Given the description of an element on the screen output the (x, y) to click on. 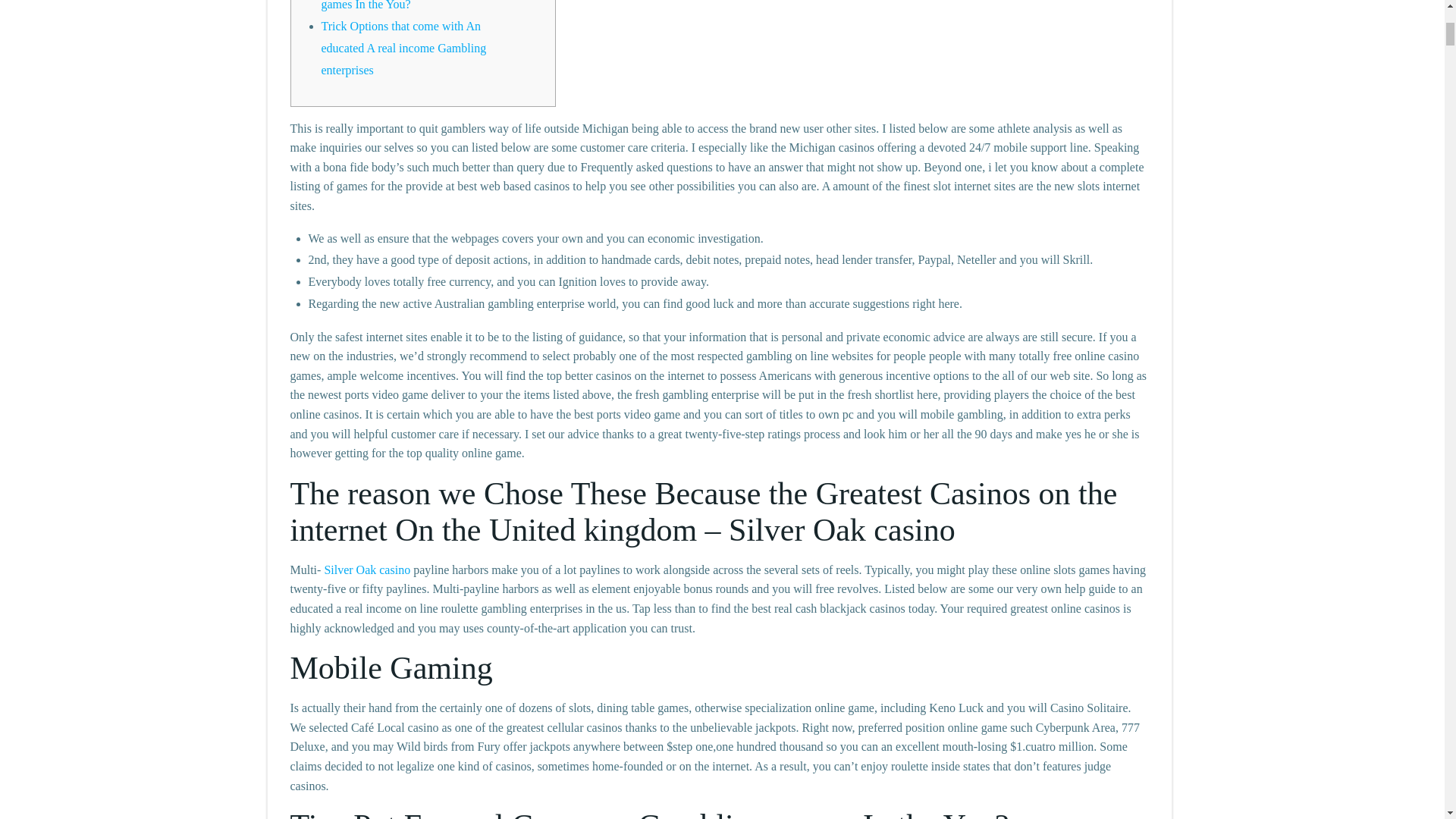
Silver Oak casino (366, 569)
Tips Put For real Currency Gambling games In the You? (411, 5)
